Given the description of an element on the screen output the (x, y) to click on. 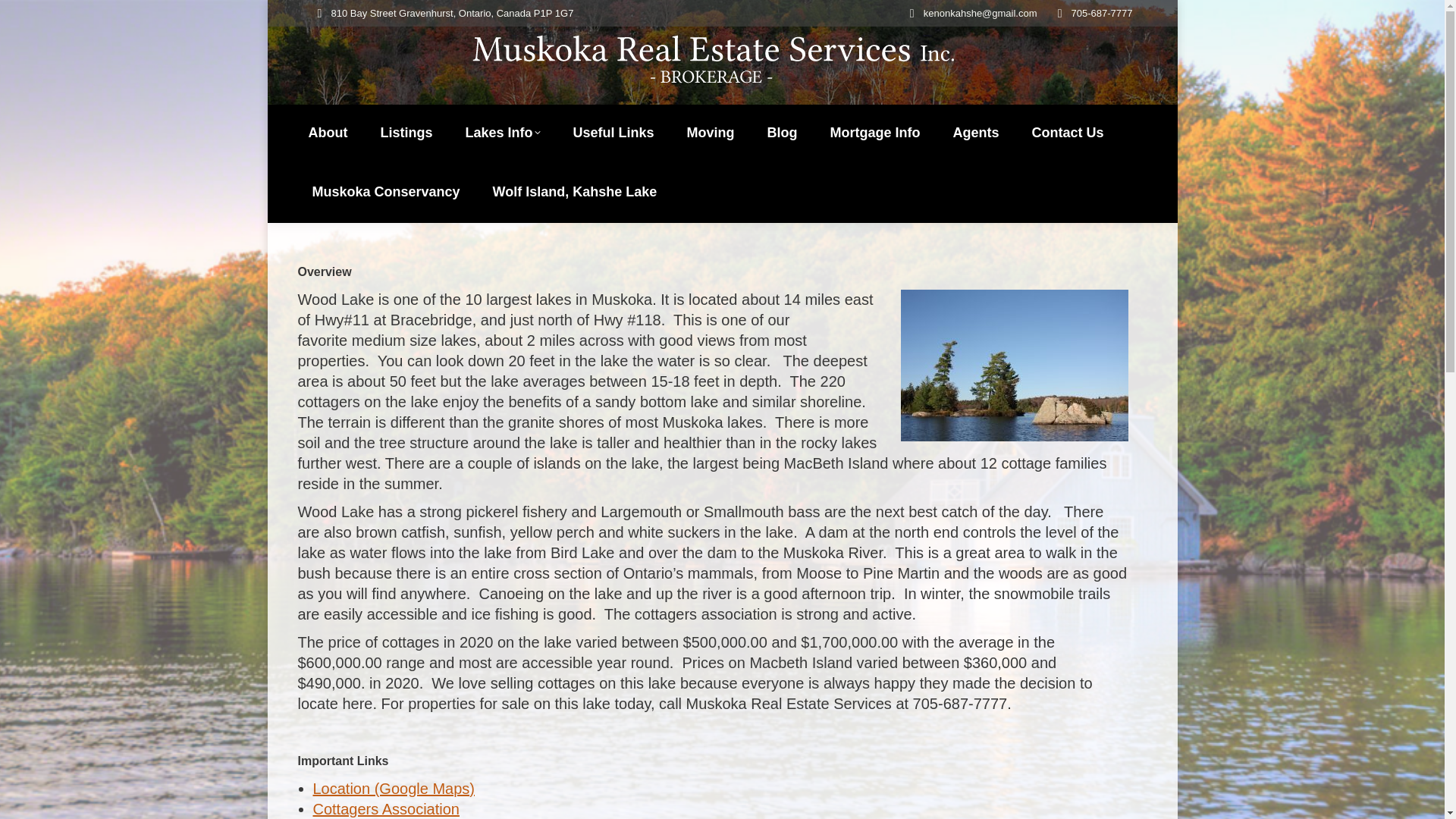
Blog (782, 132)
About (327, 132)
Wolf Island, Kahshe Lake (574, 191)
Mortgage Info (875, 132)
Contact Us (1068, 132)
Cottagers Association (385, 808)
Lakes Info (502, 132)
Moving (711, 132)
705-687-7777 (1101, 12)
Useful Links (613, 132)
